Given the description of an element on the screen output the (x, y) to click on. 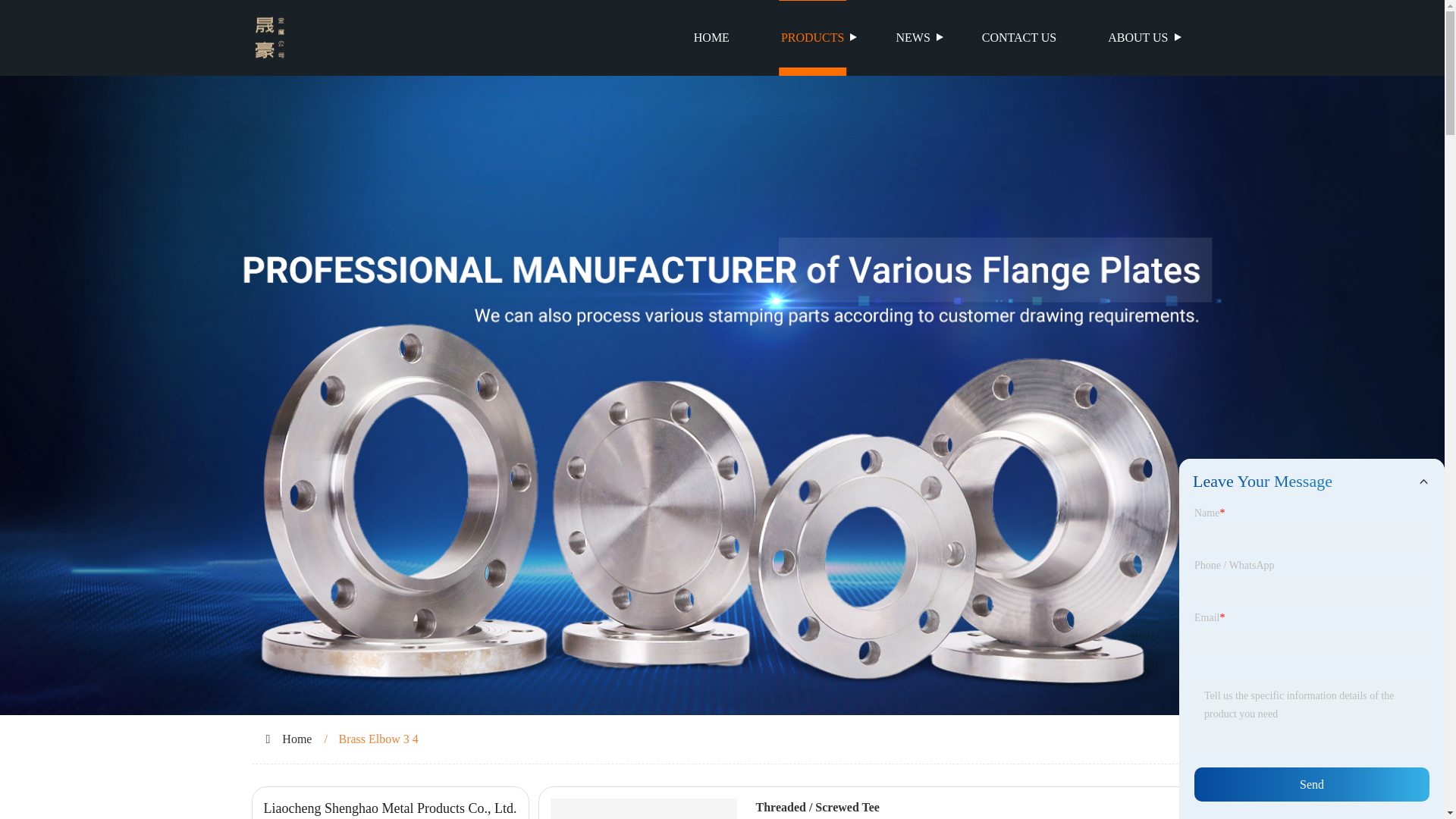
Home (296, 738)
PRODUCTS (812, 38)
CONTACT US (1018, 38)
